Given the description of an element on the screen output the (x, y) to click on. 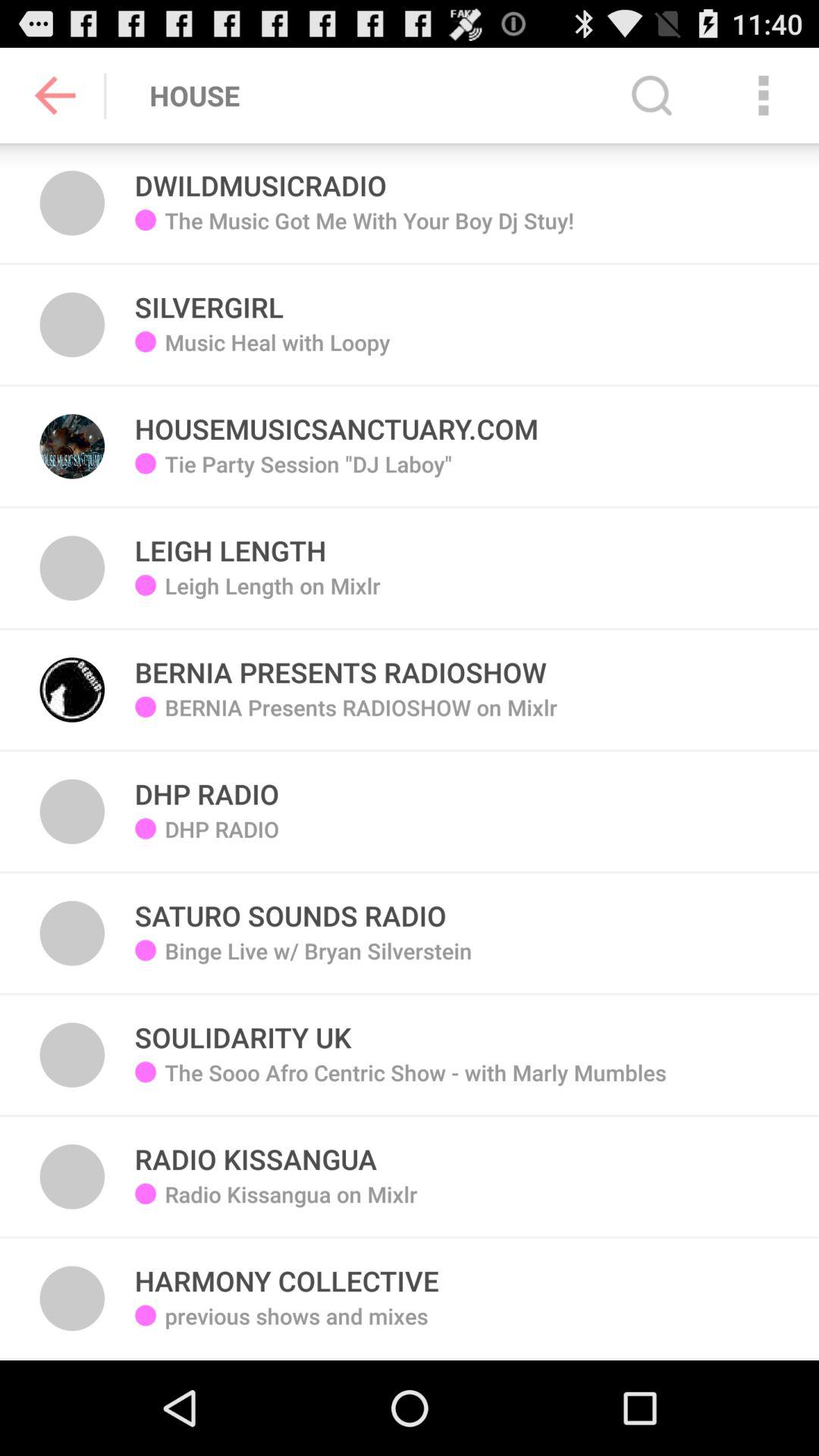
launch the item above radio kissangua icon (415, 1083)
